Given the description of an element on the screen output the (x, y) to click on. 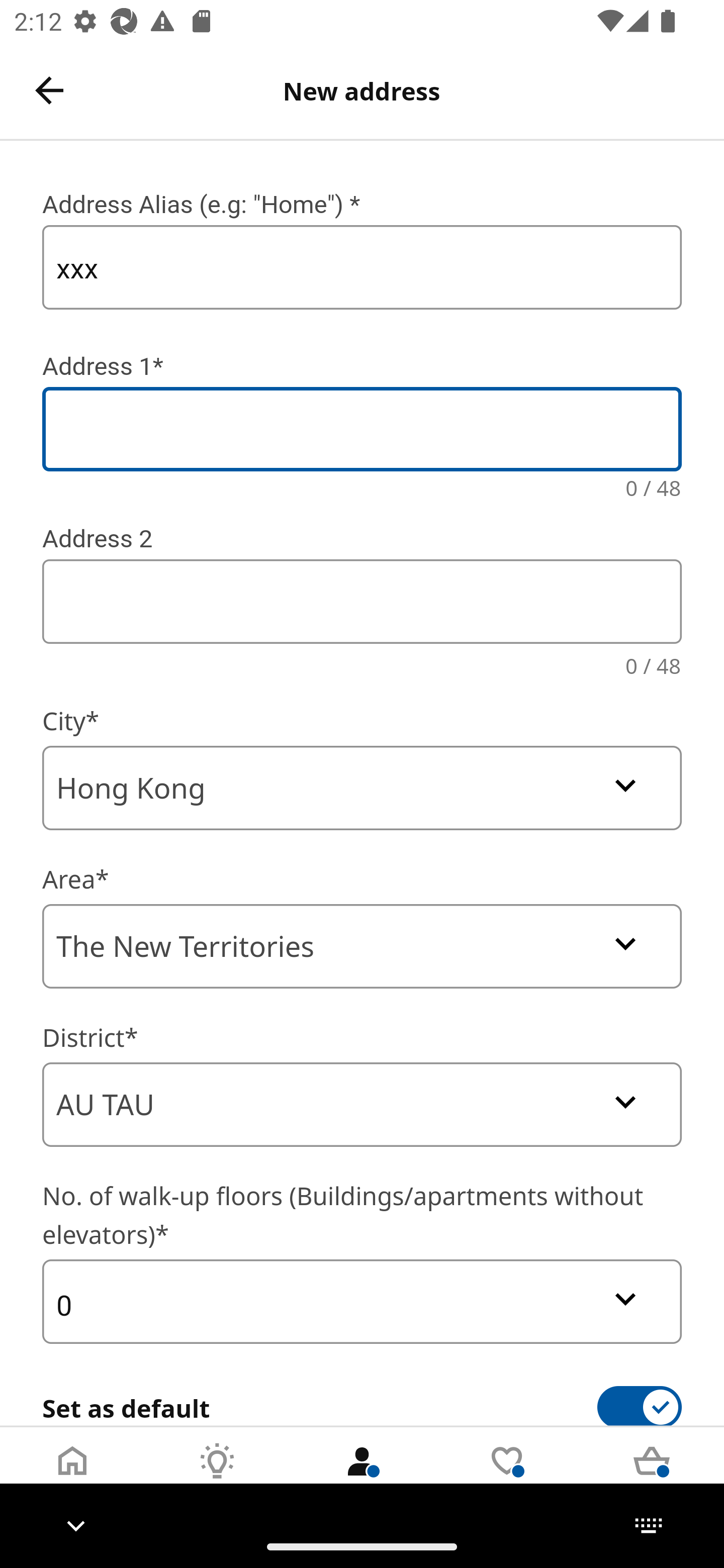
xxx (361, 266)
Hong Kong (361, 787)
The New Territories (361, 945)
AU TAU (361, 1104)
0 (361, 1301)
Home
Tab 1 of 5 (72, 1476)
Inspirations
Tab 2 of 5 (216, 1476)
User
Tab 3 of 5 (361, 1476)
Wishlist
Tab 4 of 5 (506, 1476)
Cart
Tab 5 of 5 (651, 1476)
